Given the description of an element on the screen output the (x, y) to click on. 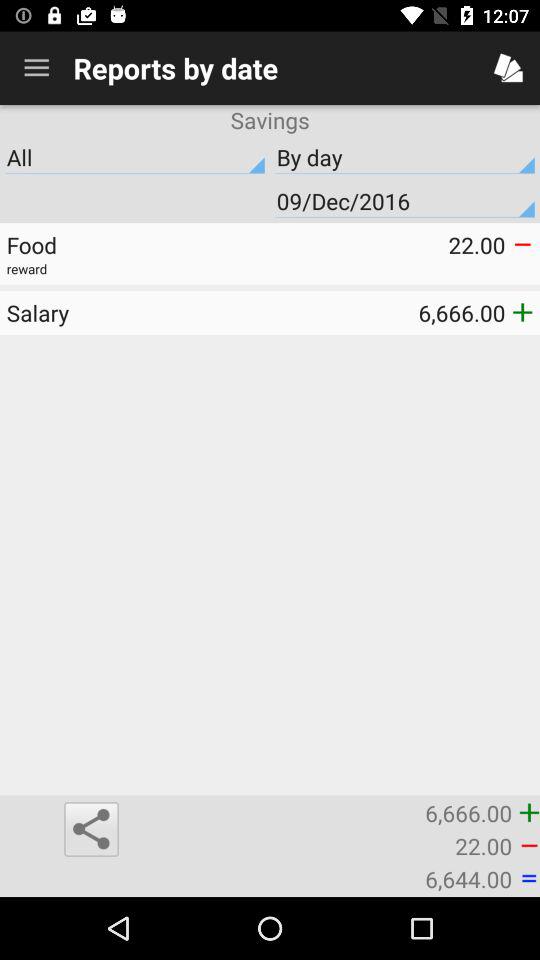
launch the item above 09/dec/2016 (135, 157)
